Given the description of an element on the screen output the (x, y) to click on. 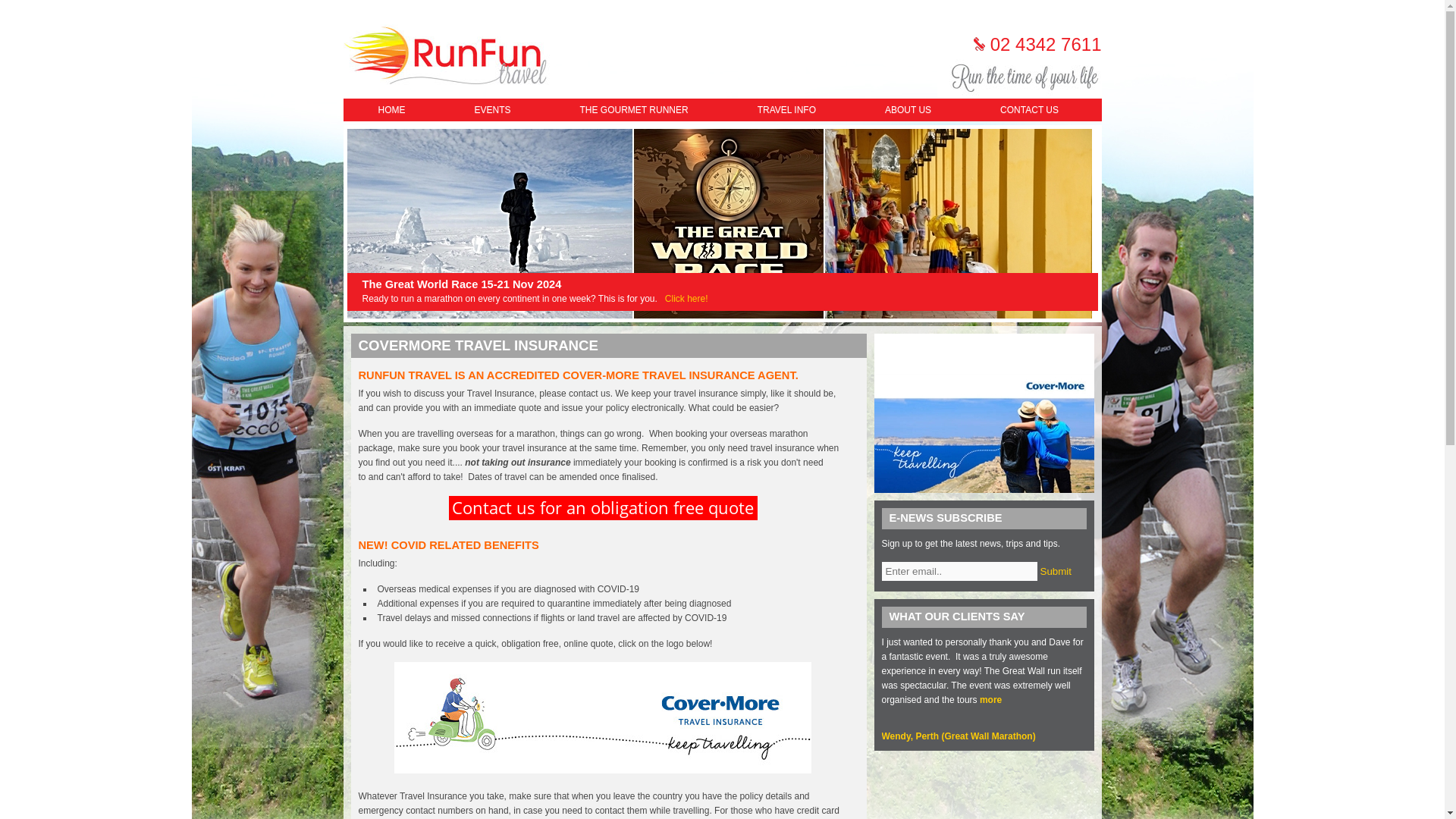
CoverMore online quote (602, 769)
TRAVEL INFO (786, 109)
more (990, 699)
Submit (1056, 571)
CONTACT US (1029, 109)
THE GOURMET RUNNER (633, 109)
The Great World Race - click here for details! (686, 298)
Submit (1056, 571)
EVENTS (492, 109)
ABOUT US (908, 109)
Click for more testimonials (957, 736)
HOME (390, 109)
Click here! (686, 298)
